Given the description of an element on the screen output the (x, y) to click on. 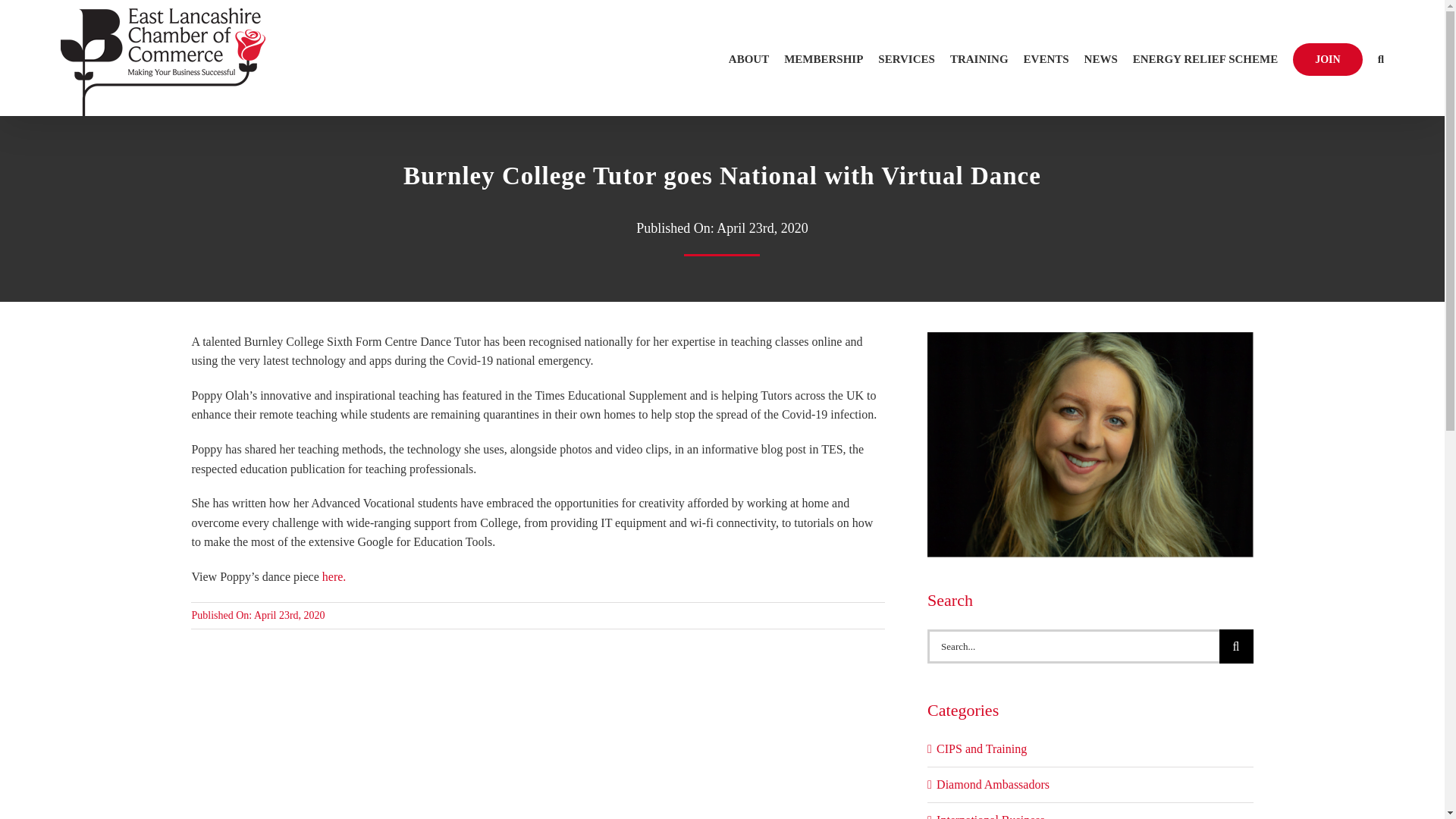
Screenshot 2020-04-23 at 15.24.29 (1089, 337)
